Given the description of an element on the screen output the (x, y) to click on. 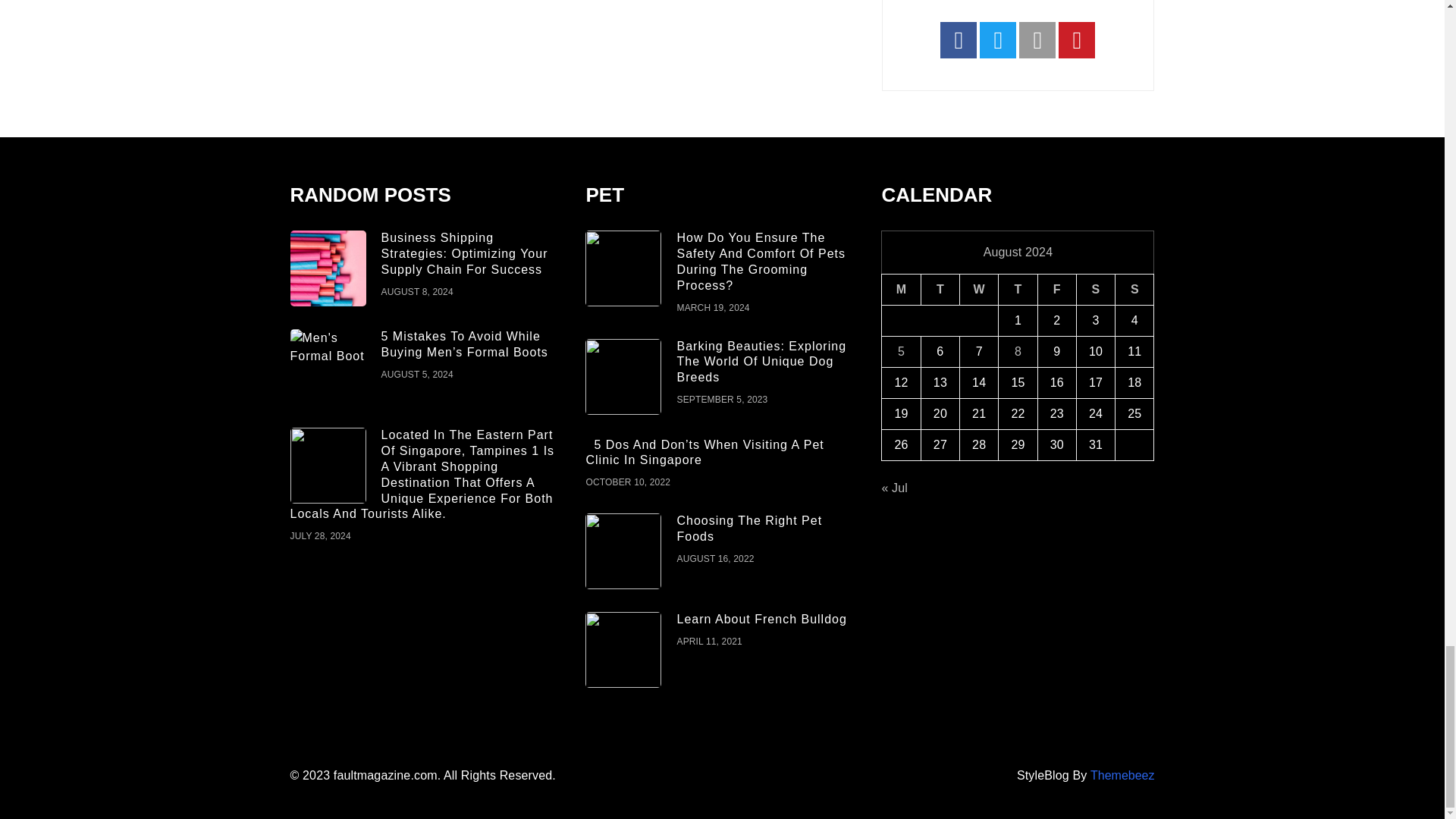
Thursday (1017, 289)
Wednesday (978, 289)
Monday (901, 289)
Saturday (1095, 289)
Pinterest (1076, 40)
Facebook (958, 40)
LinkedIn (1037, 40)
Friday (1055, 289)
Sunday (1134, 289)
Twitter (997, 40)
